Given the description of an element on the screen output the (x, y) to click on. 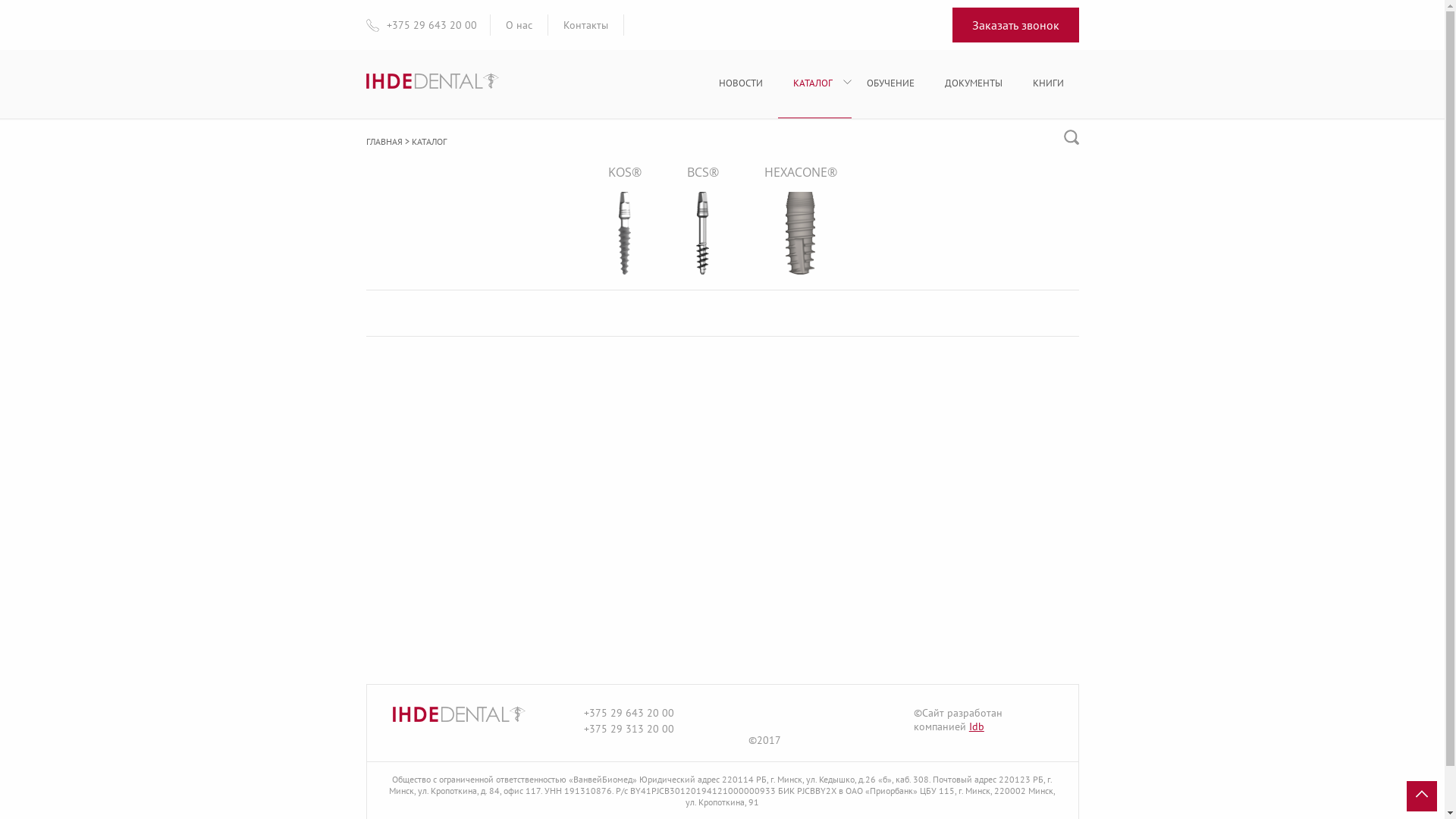
+375 29 643 20 00 Element type: text (628, 712)
+375 29 313 20 00 Element type: text (628, 728)
+375 29 643 20 00 Element type: text (431, 24)
Idb Element type: text (976, 726)
